Given the description of an element on the screen output the (x, y) to click on. 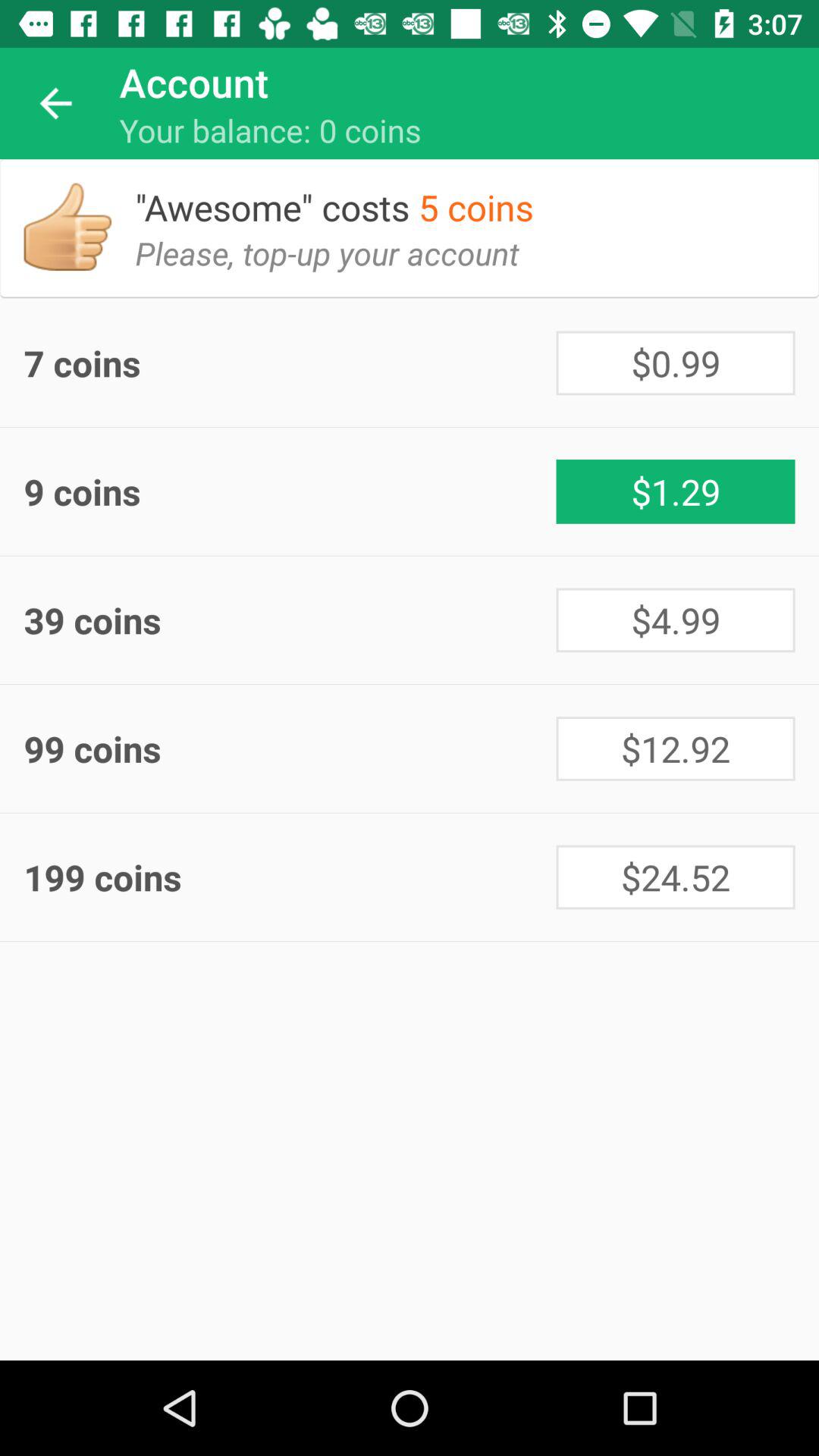
tap the icon to the left of the $1.29 icon (289, 491)
